Given the description of an element on the screen output the (x, y) to click on. 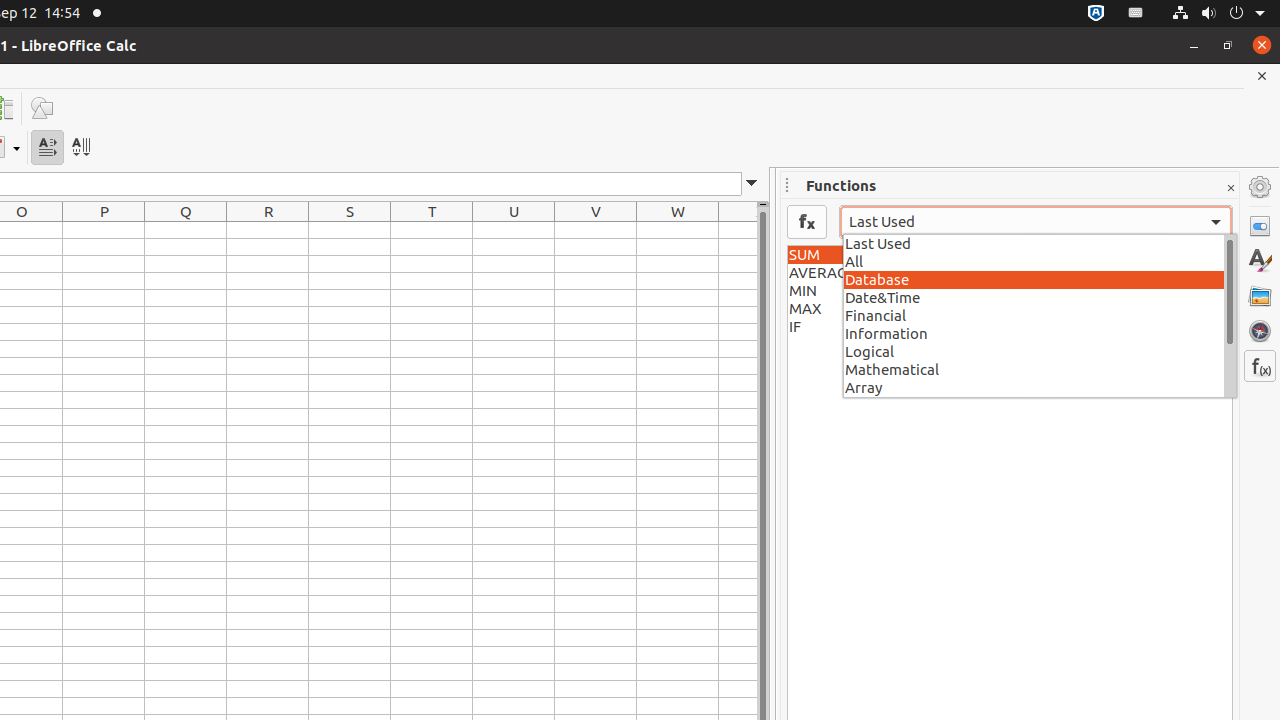
Functions Element type: radio-button (1260, 366)
Insert Function into calculation sheet Element type: push-button (807, 222)
Properties Element type: radio-button (1260, 226)
Database Element type: list-item (1040, 279)
W1 Element type: table-cell (678, 230)
